Given the description of an element on the screen output the (x, y) to click on. 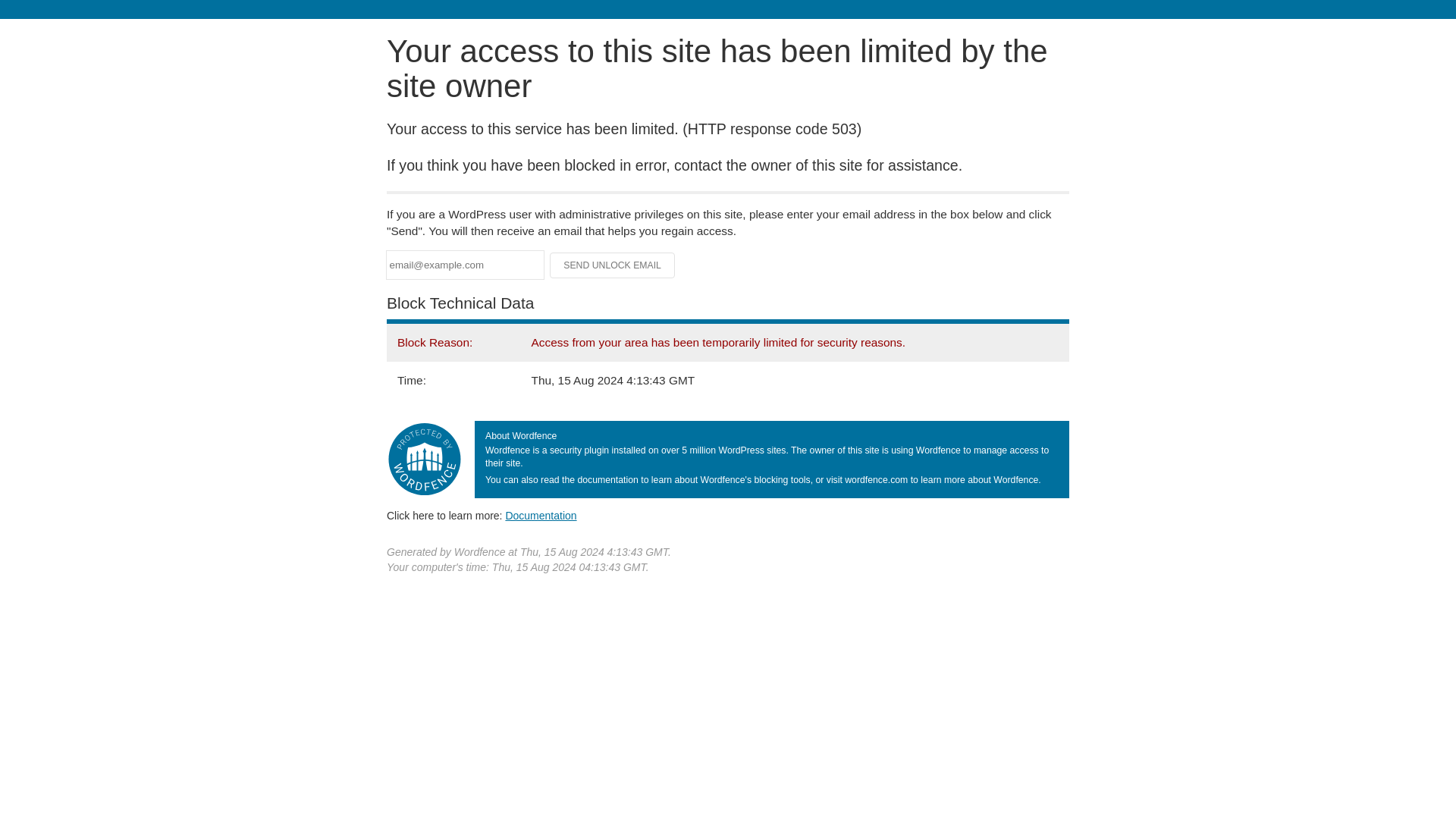
Documentation (540, 515)
Send Unlock Email (612, 265)
Send Unlock Email (612, 265)
